Given the description of an element on the screen output the (x, y) to click on. 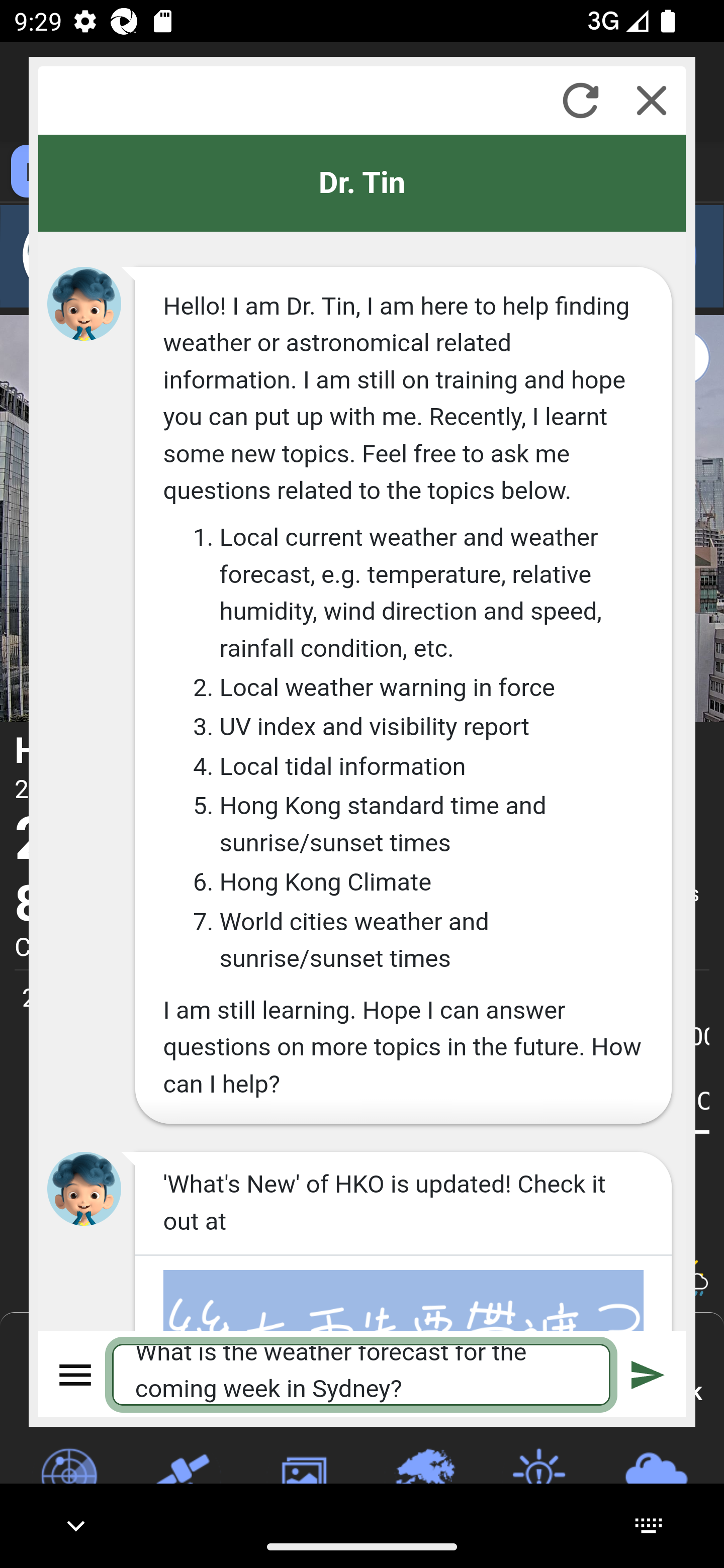
Refresh (580, 100)
Close (651, 100)
Menu (75, 1374)
Submit (648, 1374)
